Given the description of an element on the screen output the (x, y) to click on. 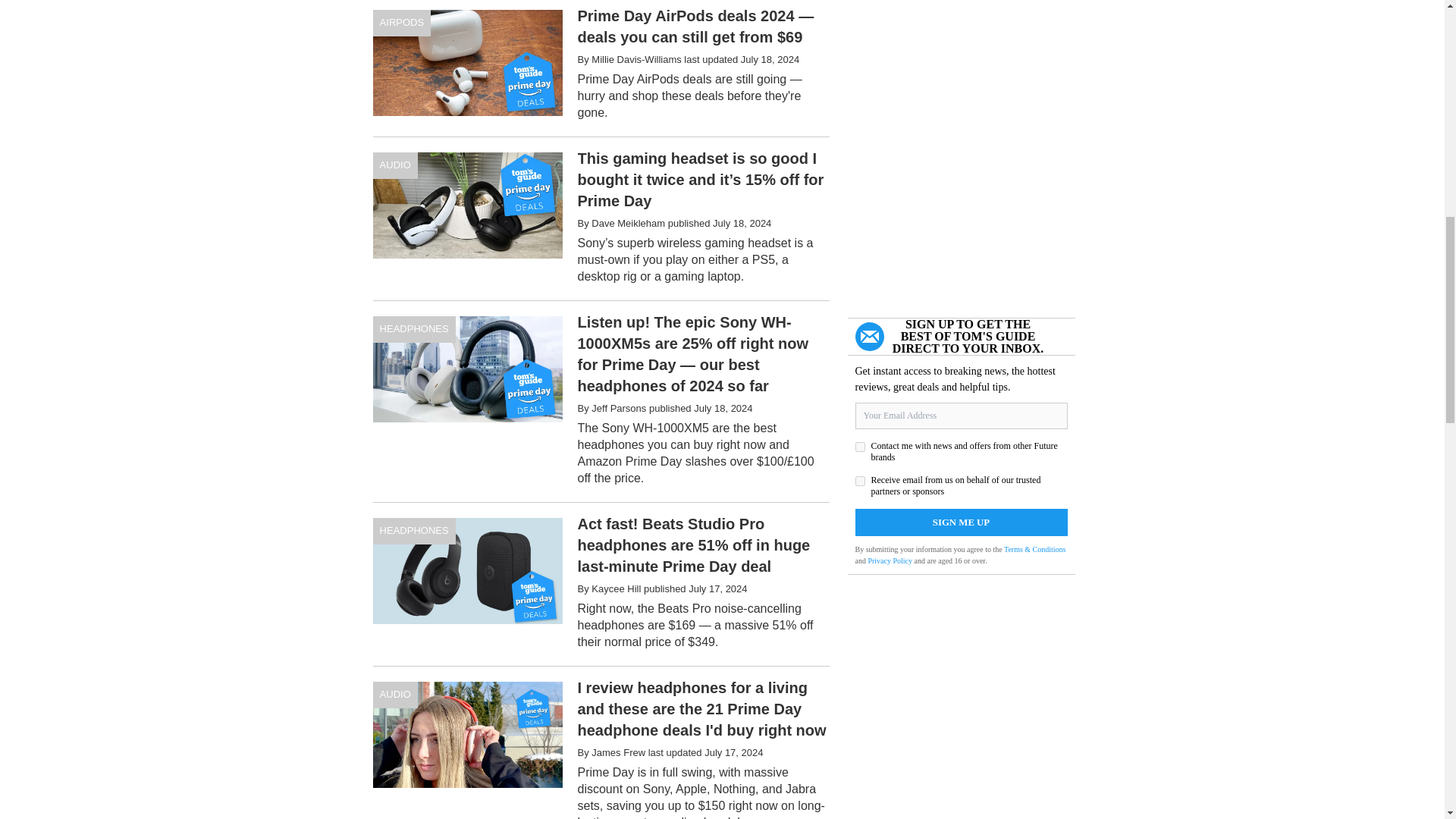
Sign me up (961, 522)
